Given the description of an element on the screen output the (x, y) to click on. 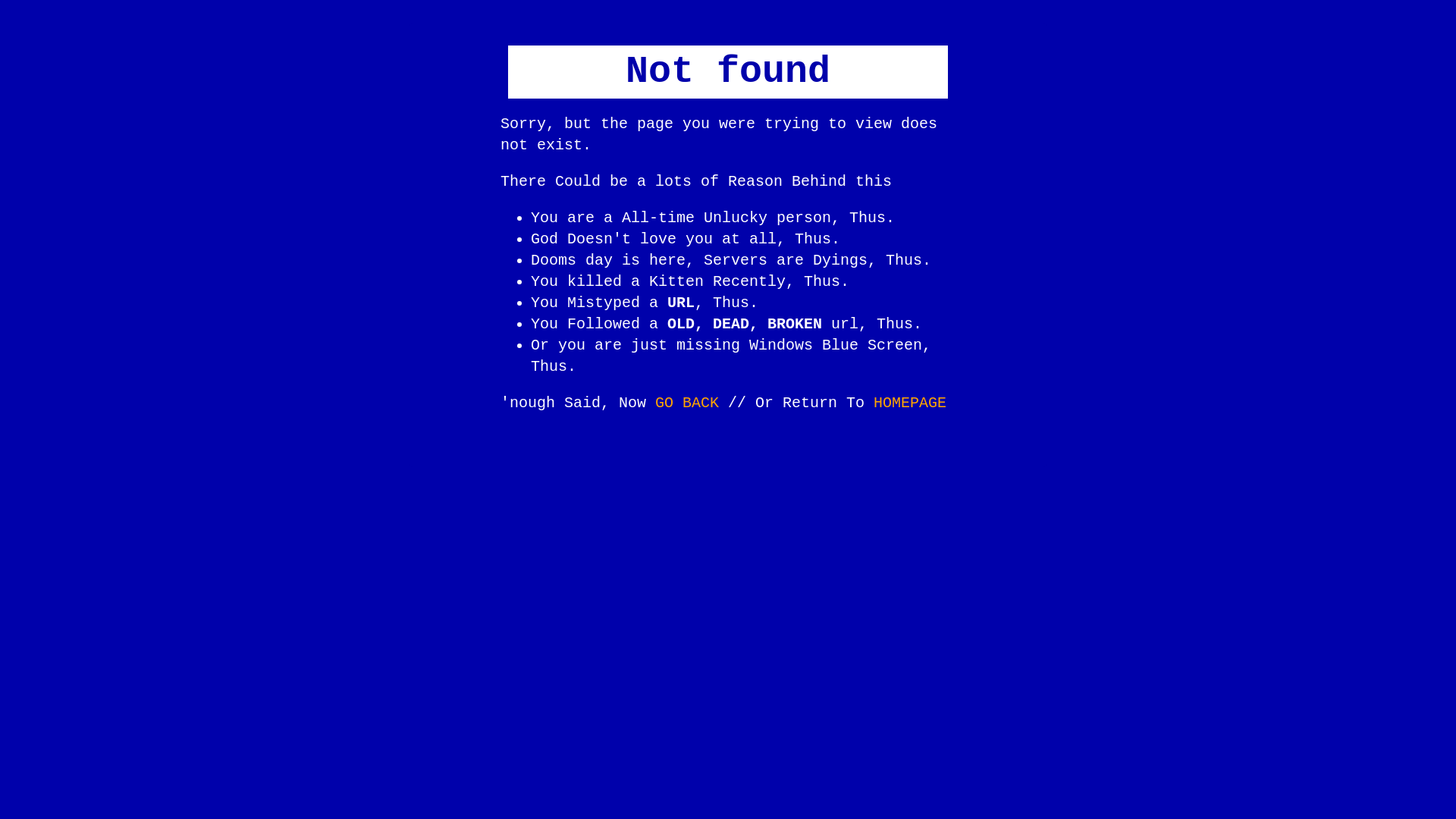
GO BACK Element type: text (686, 402)
HOMEPAGE Element type: text (909, 402)
